Given the description of an element on the screen output the (x, y) to click on. 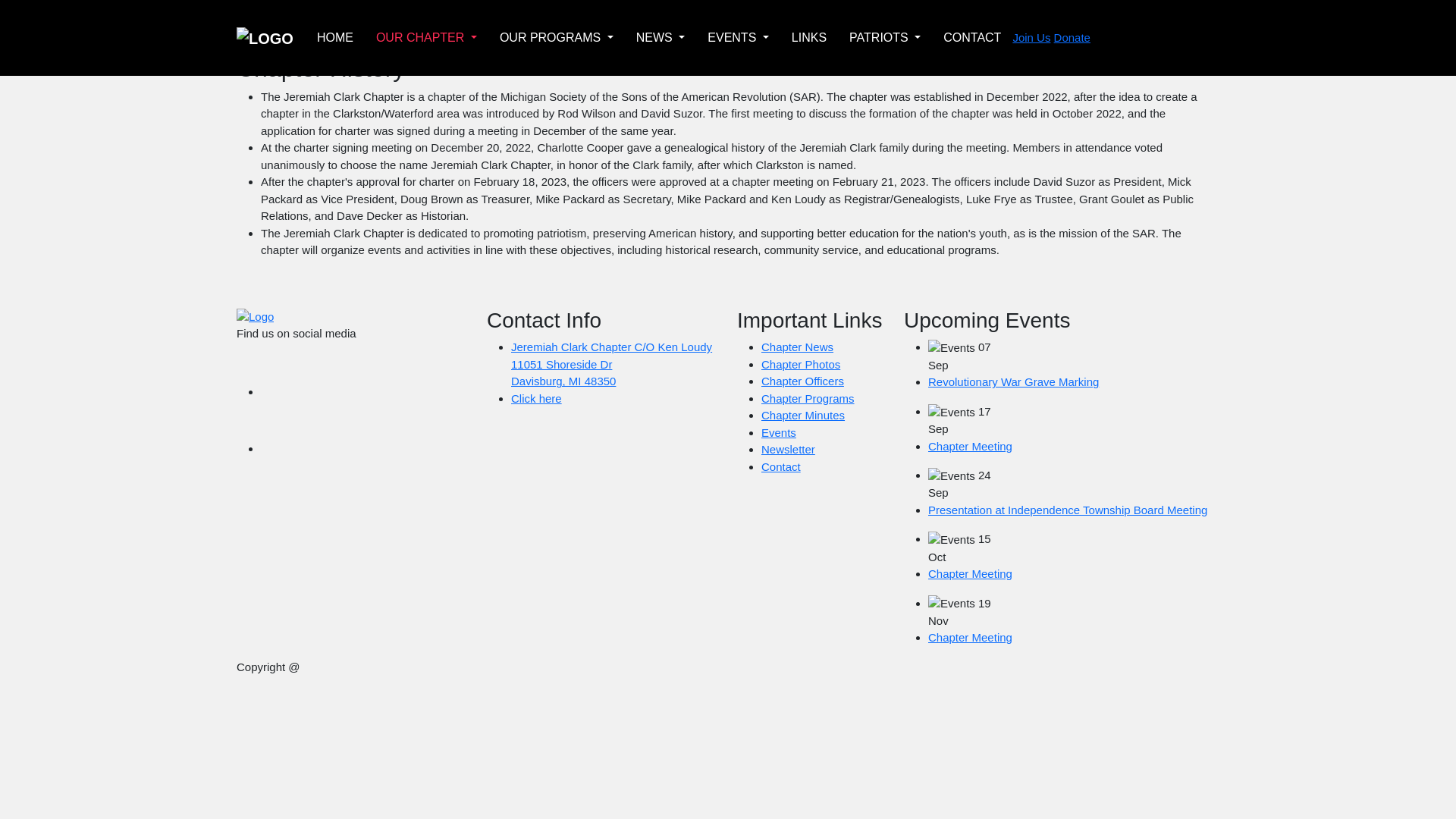
OUR PROGRAMS (555, 37)
CONTACT (972, 37)
HOME (335, 37)
Join Us (1030, 37)
EVENTS (737, 37)
PATRIOTS (884, 37)
LINKS (809, 37)
OUR CHAPTER (426, 37)
NEWS (660, 37)
Donate (1072, 37)
